Given the description of an element on the screen output the (x, y) to click on. 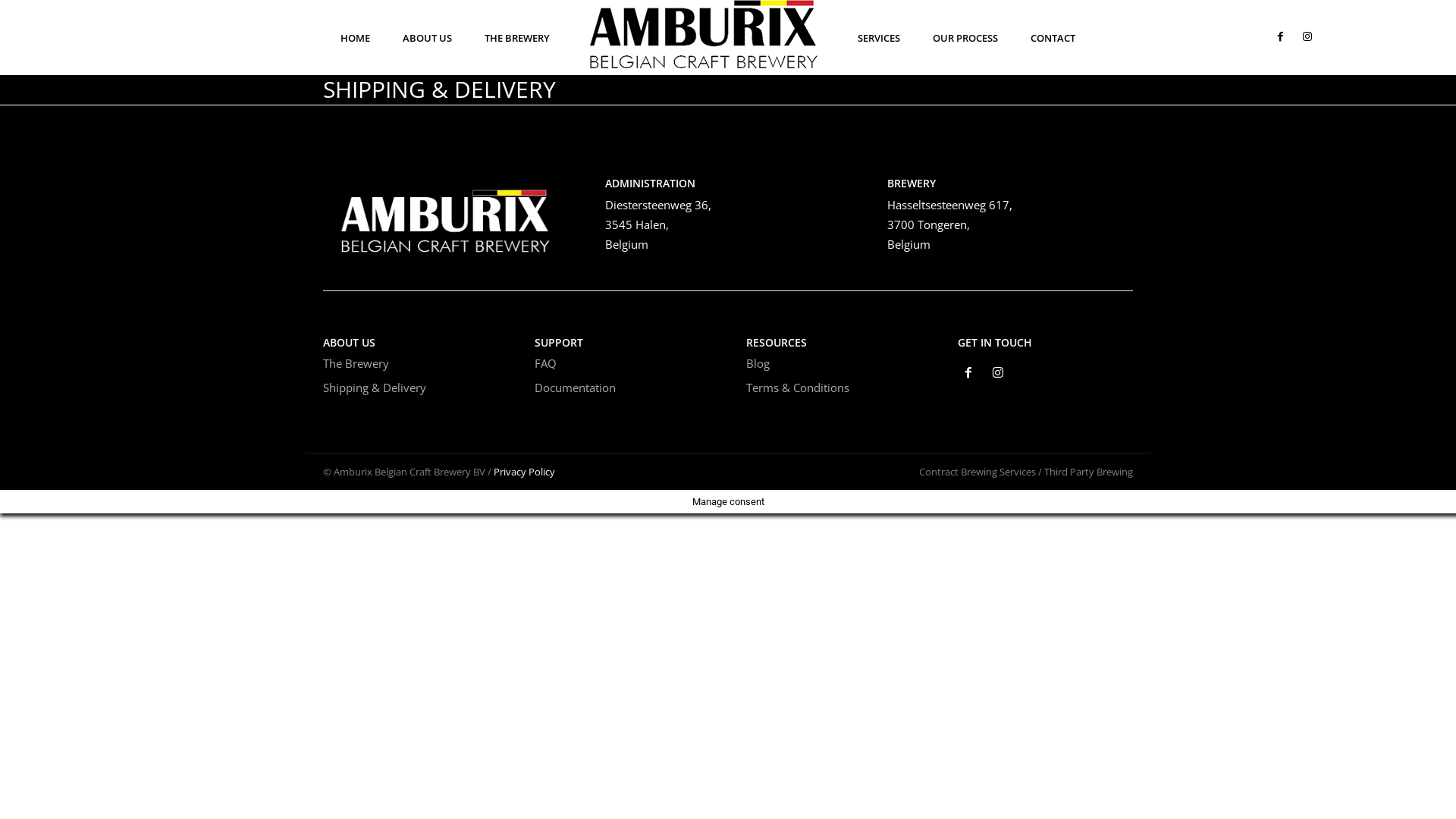
Documentation Element type: text (574, 387)
Shipping & Delivery Element type: text (374, 387)
The Brewery Element type: text (356, 362)
Facebook Element type: hover (1279, 37)
Blog Element type: text (757, 362)
CONTACT Element type: text (1052, 37)
Facebook Element type: hover (968, 374)
HOME Element type: text (354, 37)
THE BREWERY Element type: text (516, 37)
Terms & Conditions Element type: text (797, 387)
Amburix Belgian Craft Brewery Element type: hover (703, 34)
SERVICES Element type: text (878, 37)
Instagram Element type: hover (1307, 37)
Amburix Belgian Craft Brewery Element type: hover (703, 34)
Instagram Element type: hover (998, 374)
OUR PROCESS Element type: text (965, 37)
Amburix Belgian Craft Brewery Element type: hover (445, 215)
ABOUT US Element type: text (427, 37)
Privacy Policy Element type: text (524, 471)
Amburix Belgian Craft Brewery Element type: hover (445, 215)
FAQ Element type: text (545, 362)
